Given the description of an element on the screen output the (x, y) to click on. 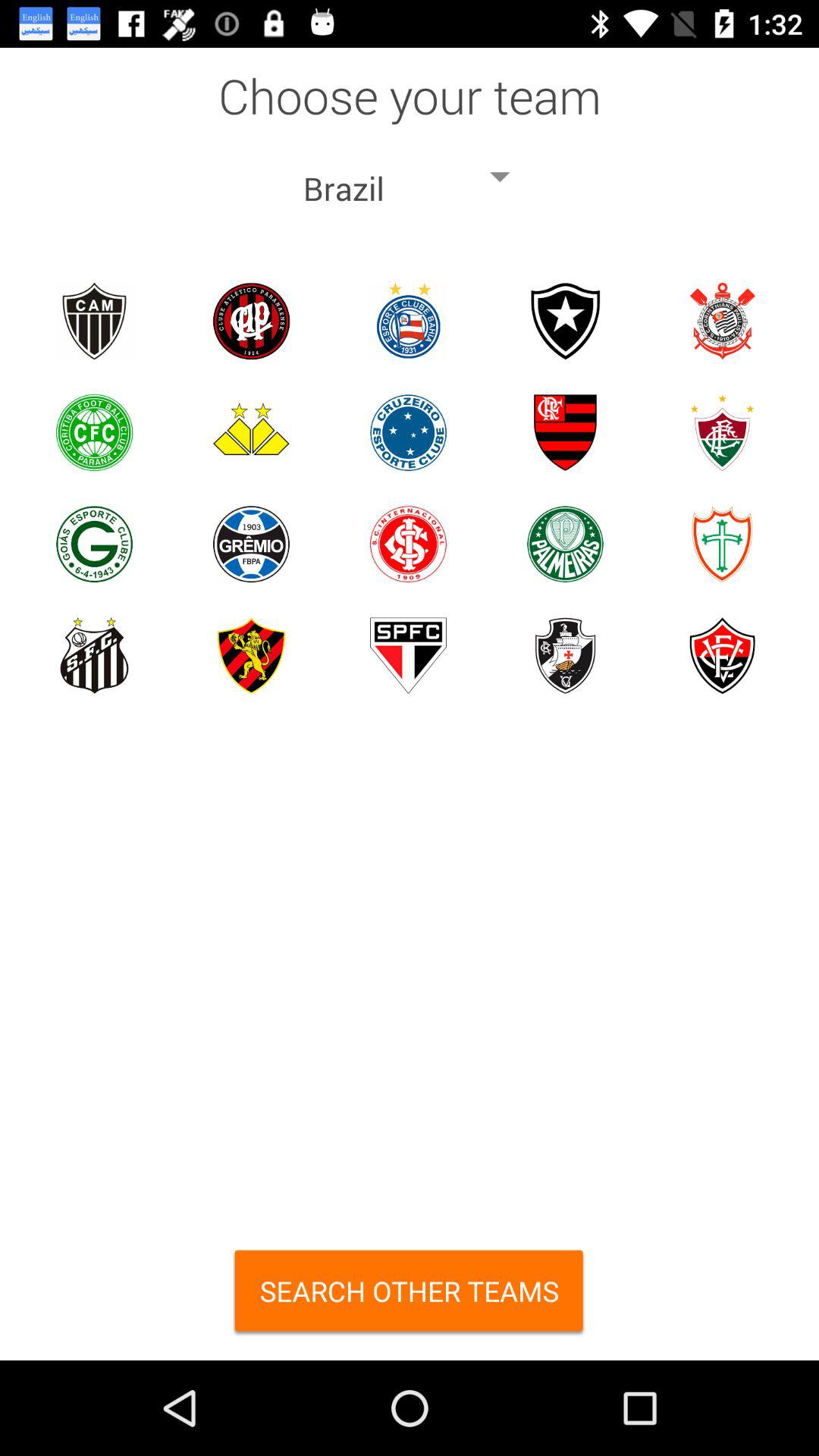
choose a team of yours by clicking on it (251, 432)
